Given the description of an element on the screen output the (x, y) to click on. 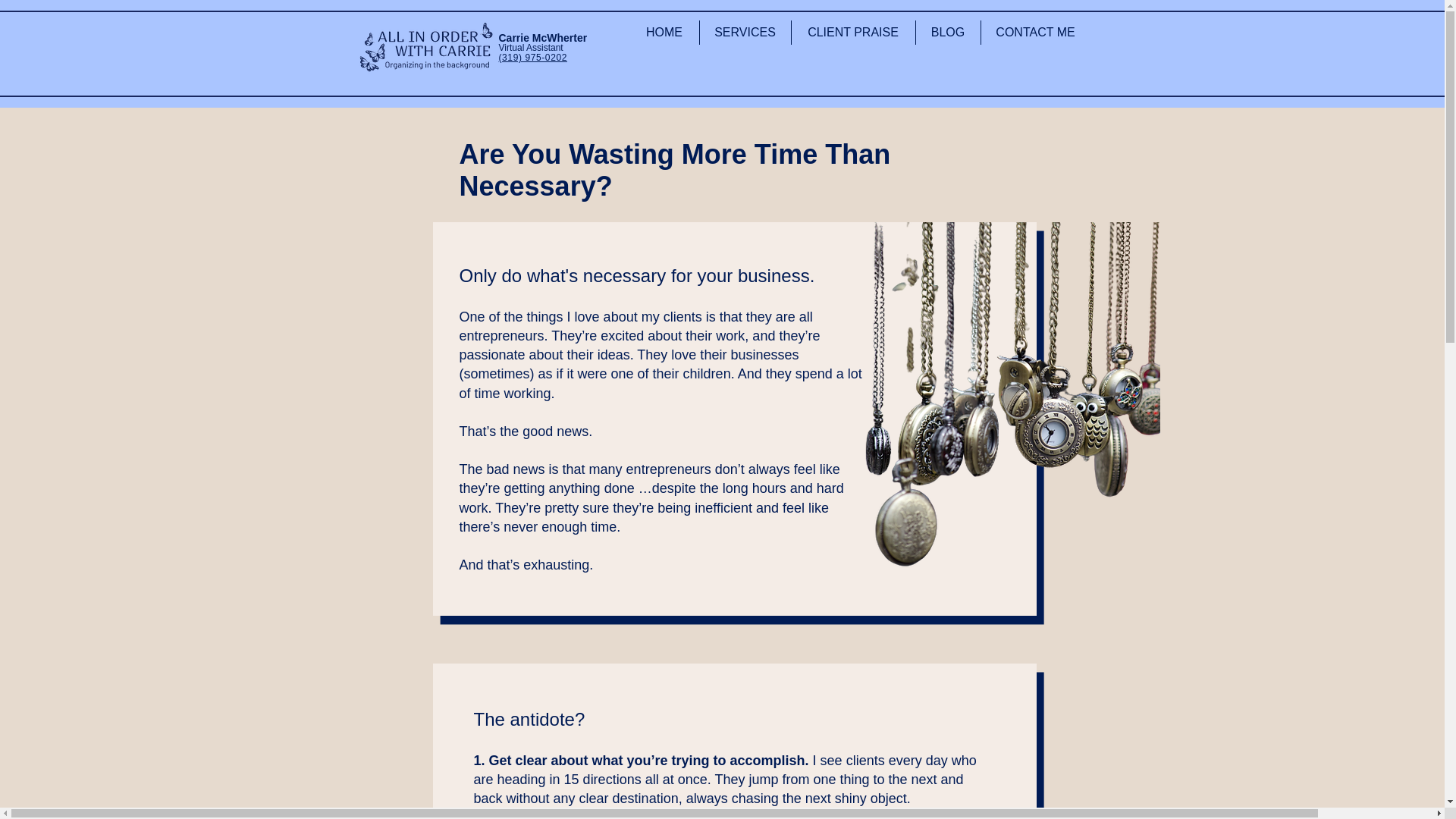
CLIENT PRAISE (853, 32)
CONTACT ME (1035, 32)
Virtual Assistant (531, 47)
Carrie McWherter (543, 37)
SERVICES (744, 32)
HOME (663, 32)
BLOG (947, 32)
